Given the description of an element on the screen output the (x, y) to click on. 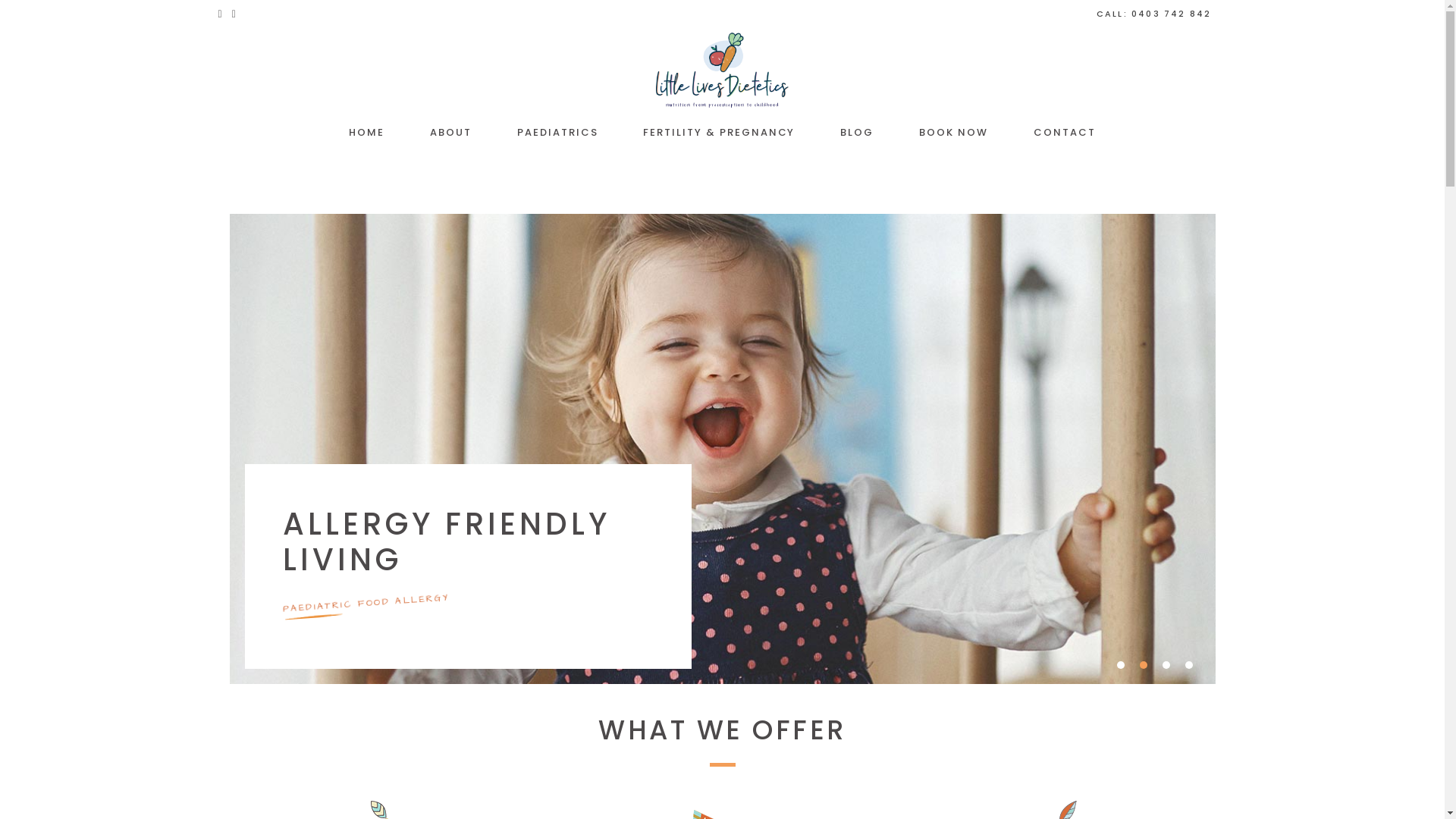
ABOUT Element type: text (450, 132)
BLOG Element type: text (856, 132)
CALL: 0403 742 842 Element type: text (1153, 13)
FERTILITY & PREGNANCY Element type: text (718, 132)
PAEDIATRIC FOOD ALLERGY Element type: text (365, 602)
BOOK NOW Element type: text (953, 132)
PAEDIATRICS Element type: text (557, 132)
CONTACT Element type: text (1064, 132)
HOME Element type: text (366, 132)
